Given the description of an element on the screen output the (x, y) to click on. 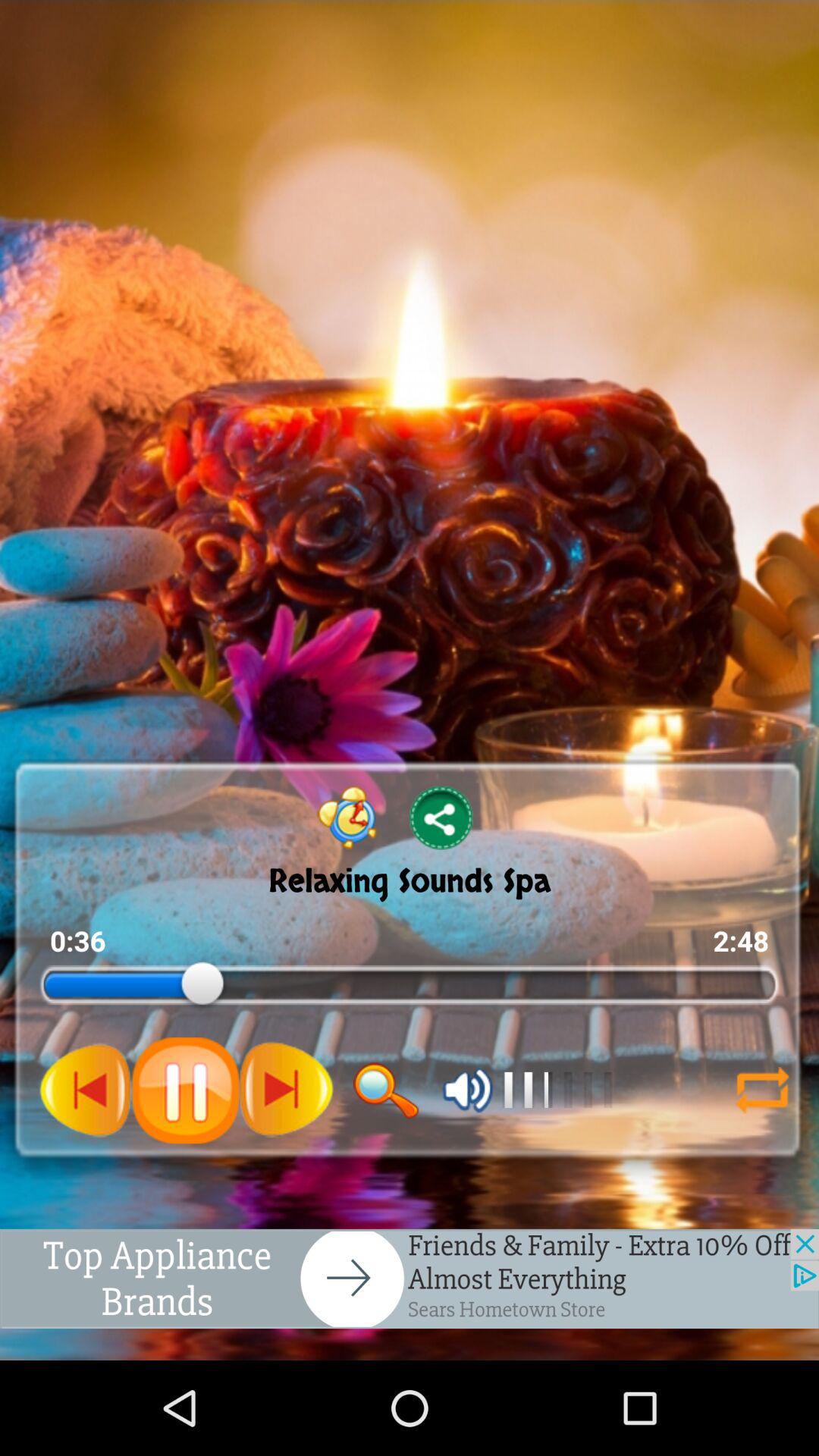
mute volume (467, 1089)
